Given the description of an element on the screen output the (x, y) to click on. 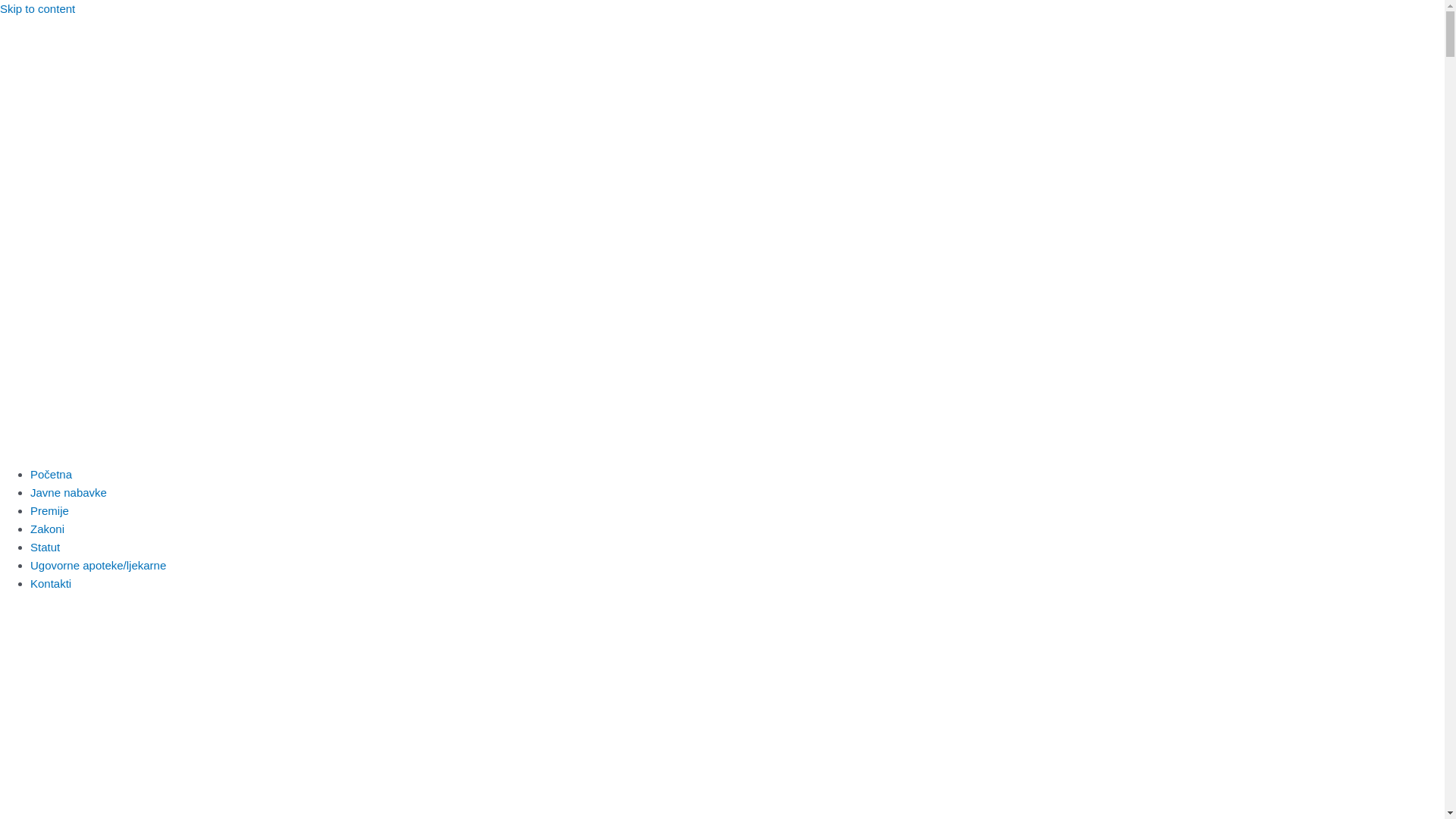
Statut Element type: text (44, 546)
Premije Element type: text (49, 510)
Javne nabavke Element type: text (68, 492)
Zakoni Element type: text (47, 528)
Kontakti Element type: text (50, 583)
Skip to content Element type: text (37, 8)
Ugovorne apoteke/ljekarne Element type: text (98, 564)
